Given the description of an element on the screen output the (x, y) to click on. 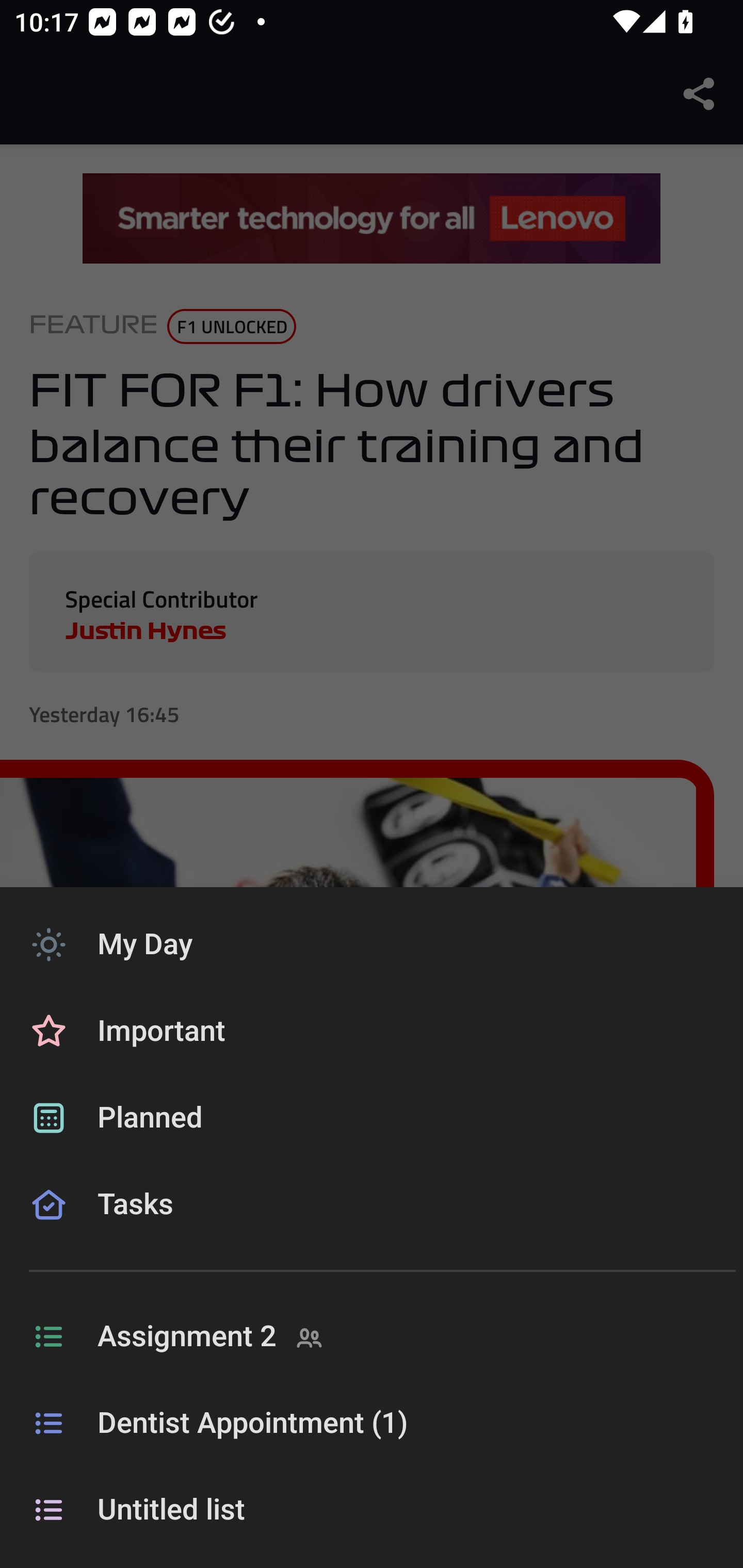
My Day, 0 tasks My Day (371, 944)
Important, 0 tasks Important (371, 1031)
Planned, 0 tasks Planned (371, 1118)
Tasks (371, 1227)
Shared list. Assignment 2 Assignment 2 Shared list (371, 1336)
Dentist Appointment (1) (371, 1423)
Untitled list (371, 1510)
